Given the description of an element on the screen output the (x, y) to click on. 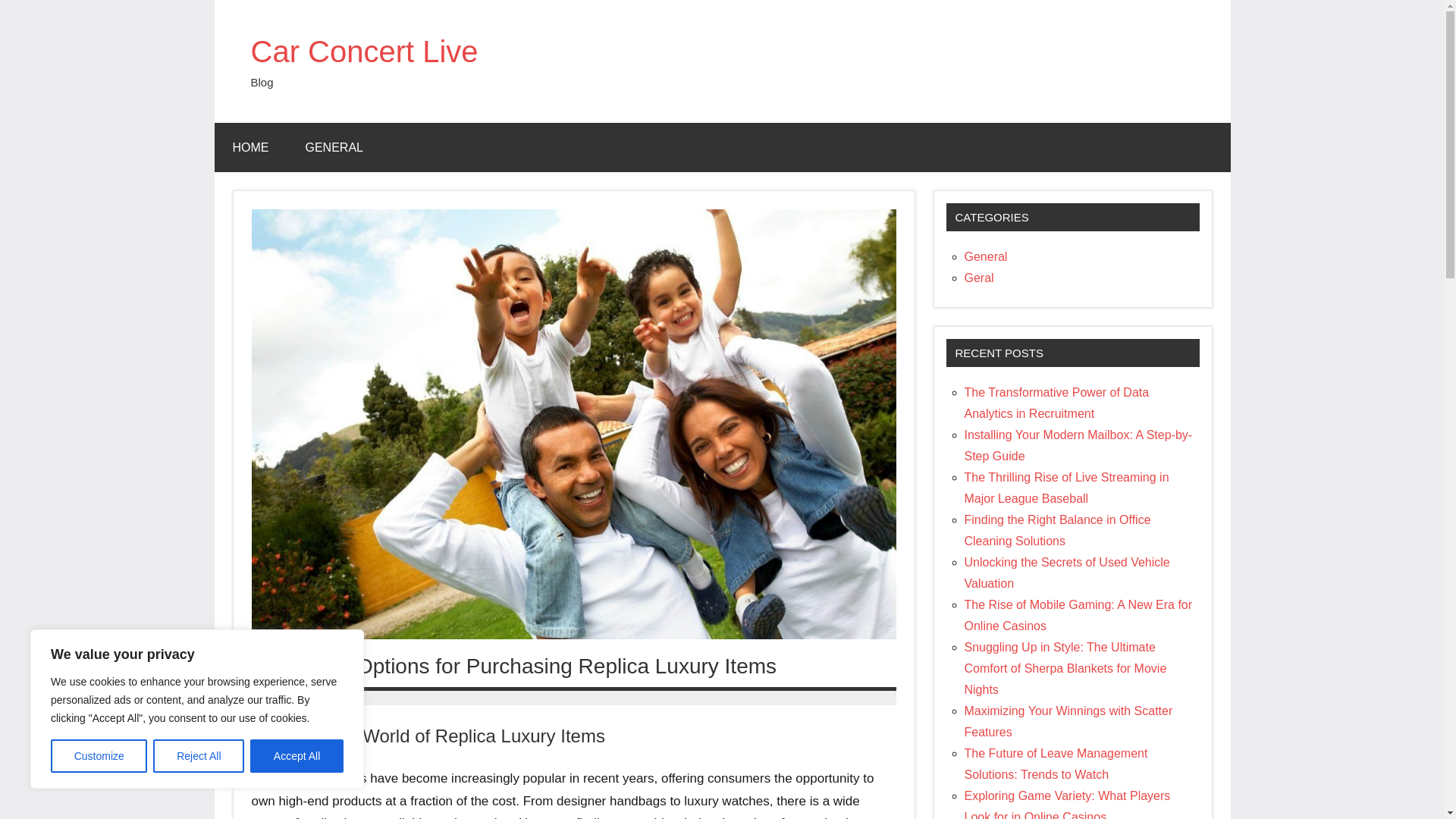
General (985, 256)
Finding the Right Balance in Office Cleaning Solutions (1057, 530)
Unlocking the Secrets of Used Vehicle Valuation (1066, 572)
Installing Your Modern Mailbox: A Step-by-Step Guide (1077, 445)
Customize (98, 756)
The Transformative Power of Data Analytics in Recruitment (1056, 402)
GENERAL (333, 146)
Car Concert Live (363, 51)
